Given the description of an element on the screen output the (x, y) to click on. 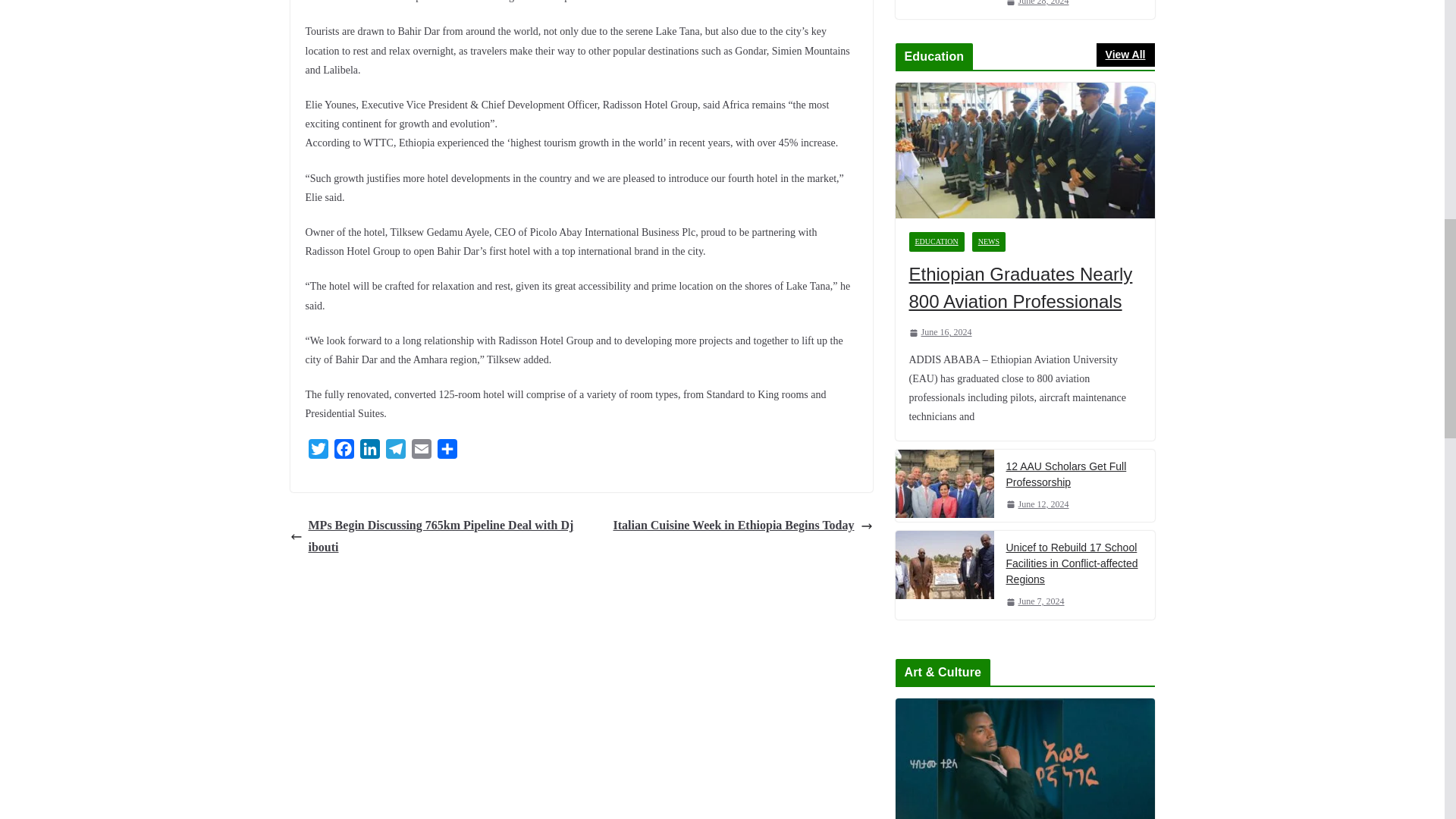
Twitter (317, 451)
MPs Begin Discussing 765km Pipeline Deal with Djibouti (431, 536)
Email (420, 451)
Email (420, 451)
LinkedIn (368, 451)
Telegram (394, 451)
Telegram (394, 451)
Italian Cuisine Week in Ethiopia Begins Today (742, 526)
Facebook (343, 451)
Facebook (343, 451)
LinkedIn (368, 451)
Twitter (317, 451)
